Given the description of an element on the screen output the (x, y) to click on. 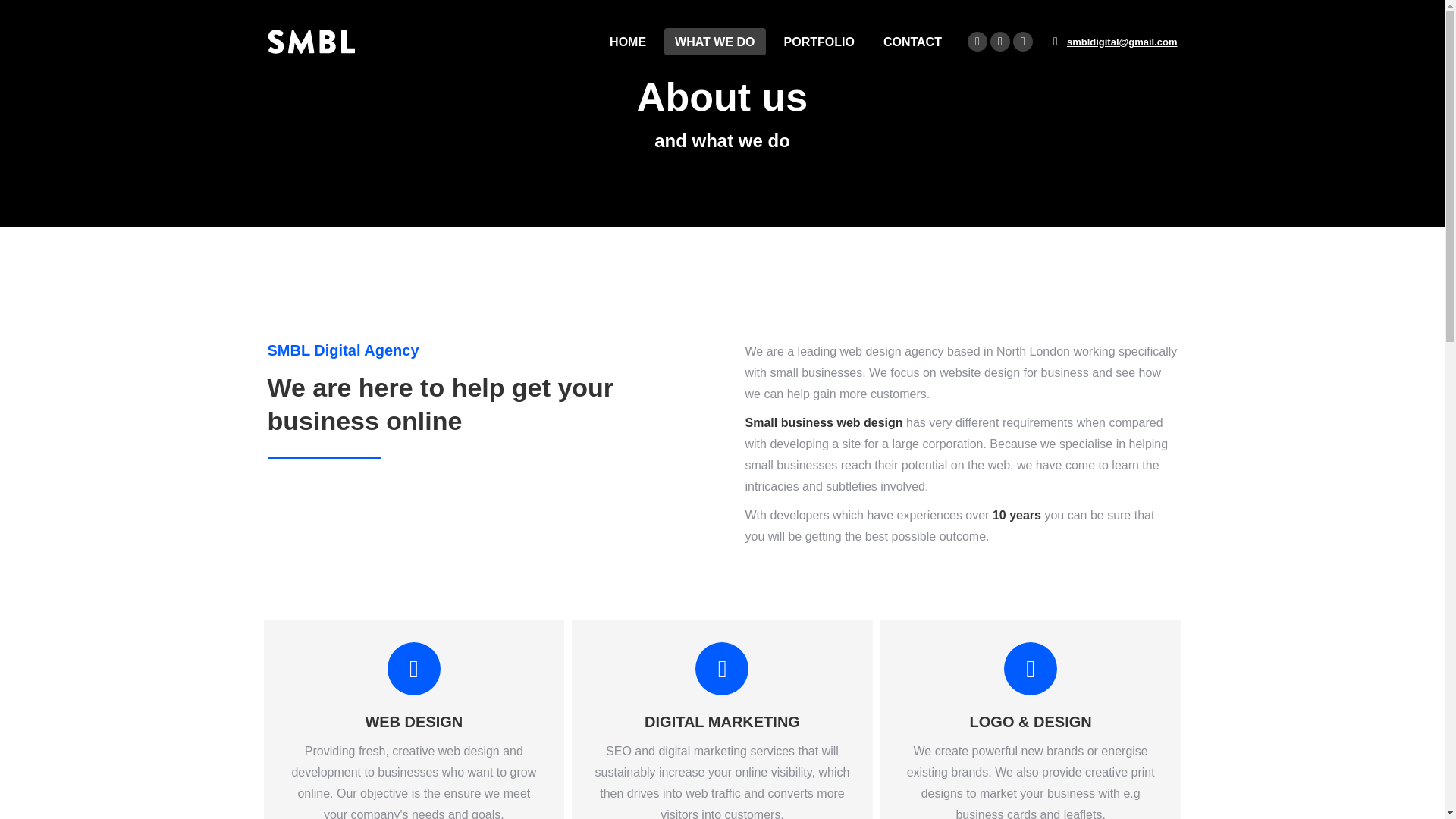
CONTACT (912, 41)
Whatsapp page opens in new window (1022, 41)
Whatsapp page opens in new window (1022, 41)
PORTFOLIO (818, 41)
HOME (627, 41)
Facebook page opens in new window (1000, 41)
Instagram page opens in new window (977, 41)
Facebook page opens in new window (1000, 41)
Instagram page opens in new window (977, 41)
WHAT WE DO (714, 41)
